Given the description of an element on the screen output the (x, y) to click on. 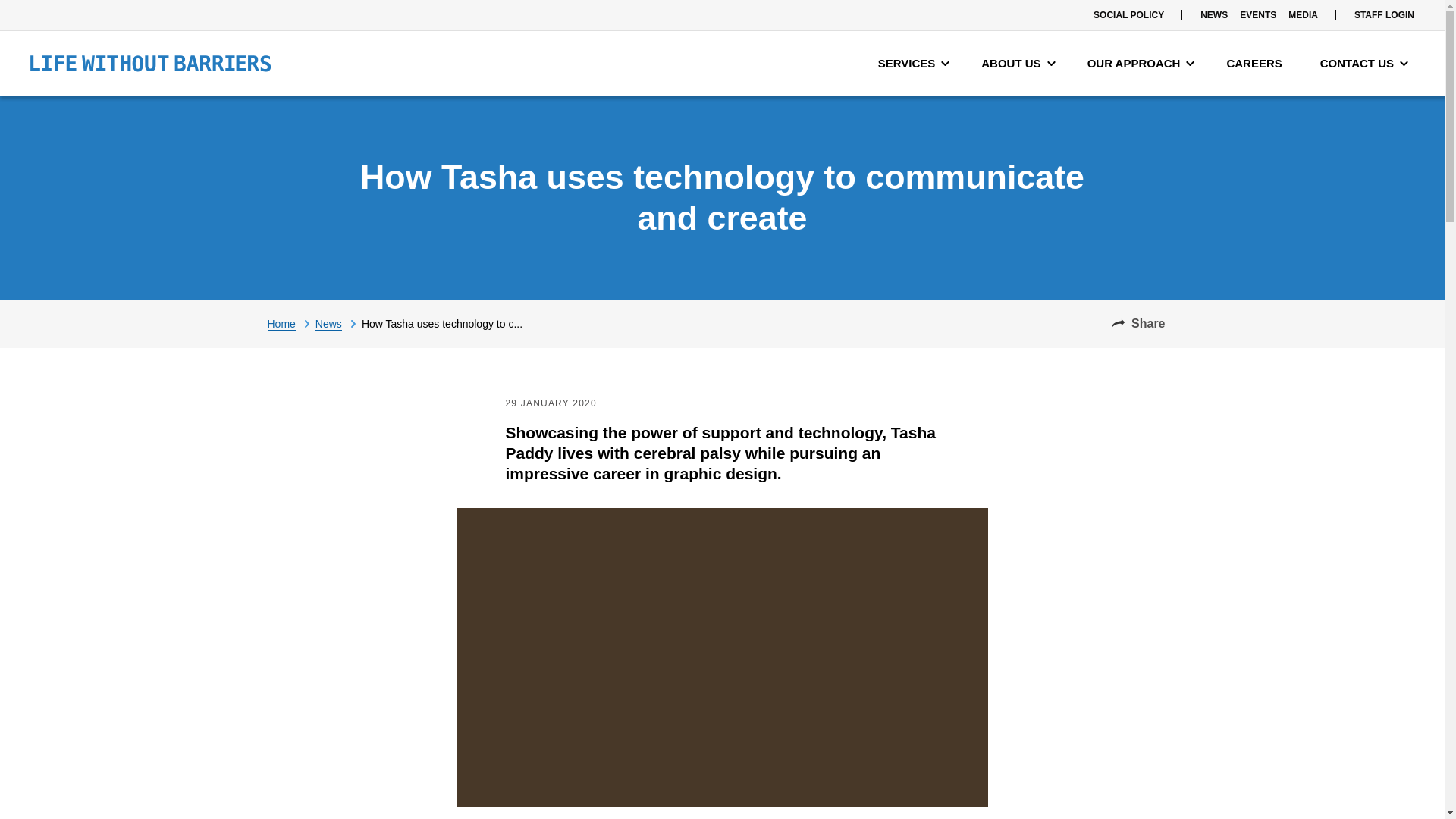
MEDIA (1302, 15)
Return to news page (338, 322)
Share (1137, 322)
EVENTS (1257, 15)
NEWS (1213, 15)
Contact us (1364, 63)
SOCIAL POLICY (1128, 15)
Our approach (1141, 63)
Careers (1257, 63)
Return navigation (290, 322)
